Given the description of an element on the screen output the (x, y) to click on. 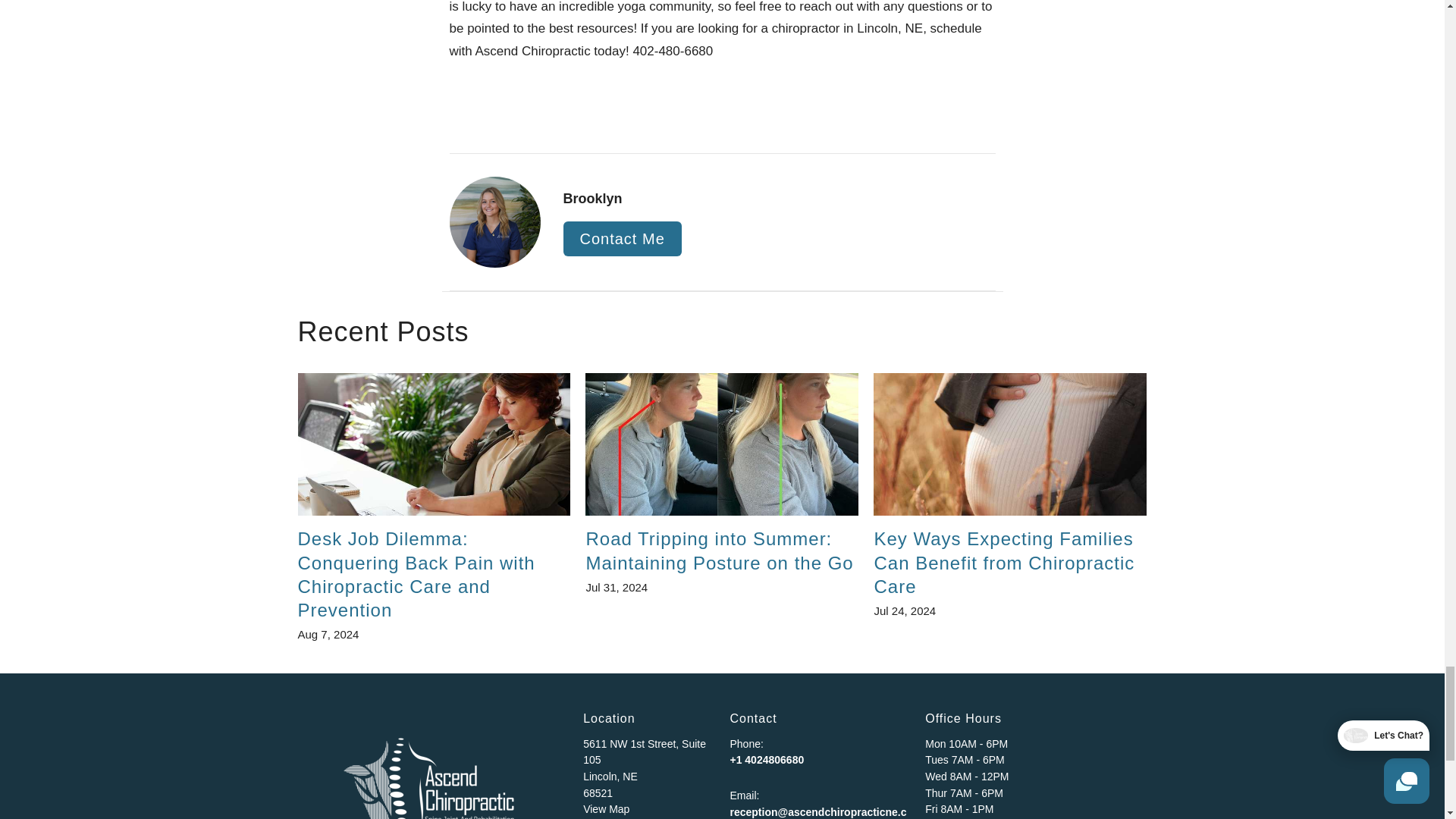
Contact Me (621, 239)
View Map (605, 808)
